Given the description of an element on the screen output the (x, y) to click on. 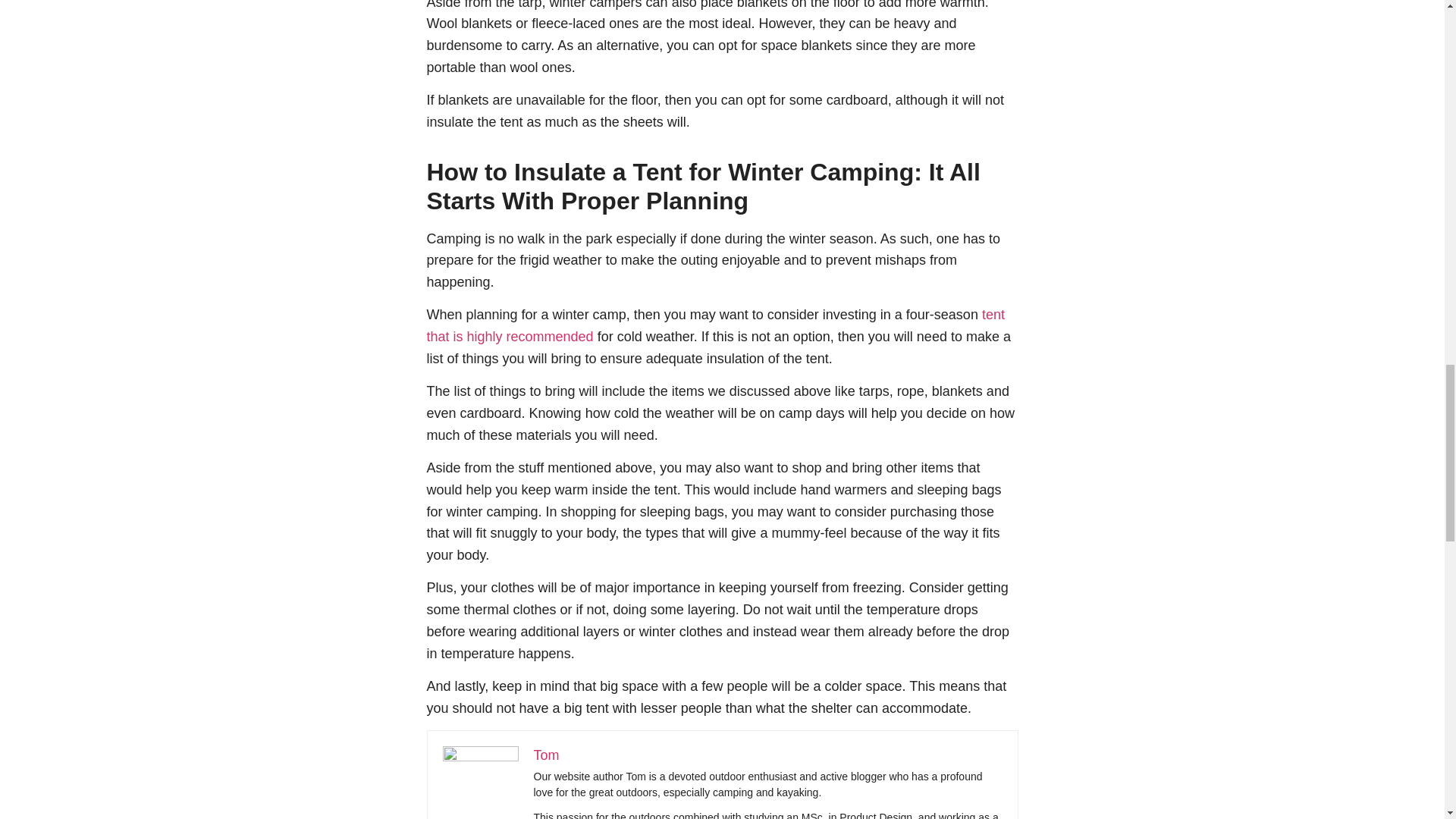
tent that is highly recommended (715, 325)
Tom (546, 754)
